Given the description of an element on the screen output the (x, y) to click on. 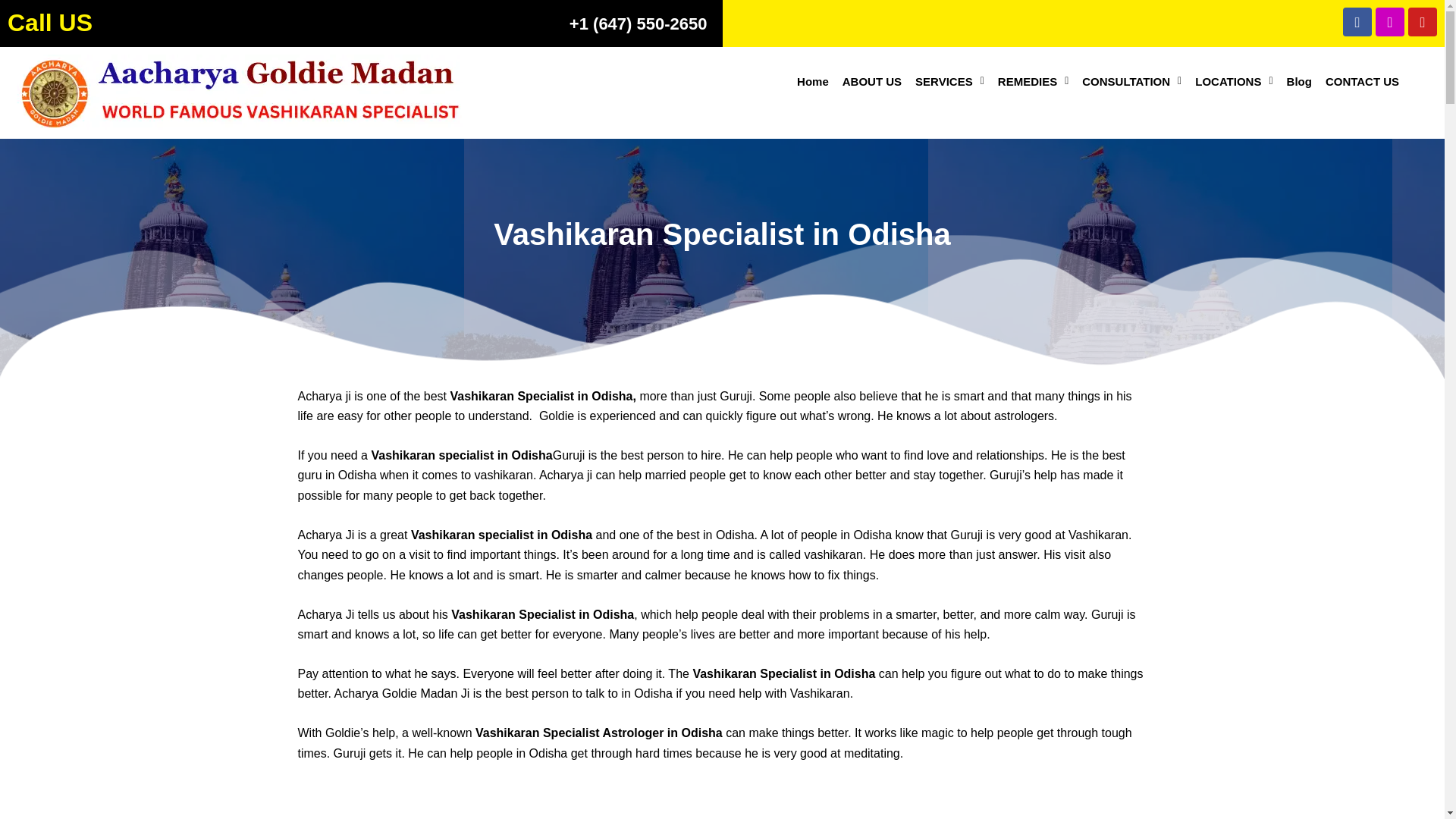
CONSULTATION (1131, 81)
Instagram (1390, 21)
ABOUT US (871, 81)
REMEDIES (1033, 81)
Youtube (1422, 21)
Home (812, 81)
SERVICES (949, 81)
Facebook (1356, 21)
LOCATIONS (1233, 81)
